Given the description of an element on the screen output the (x, y) to click on. 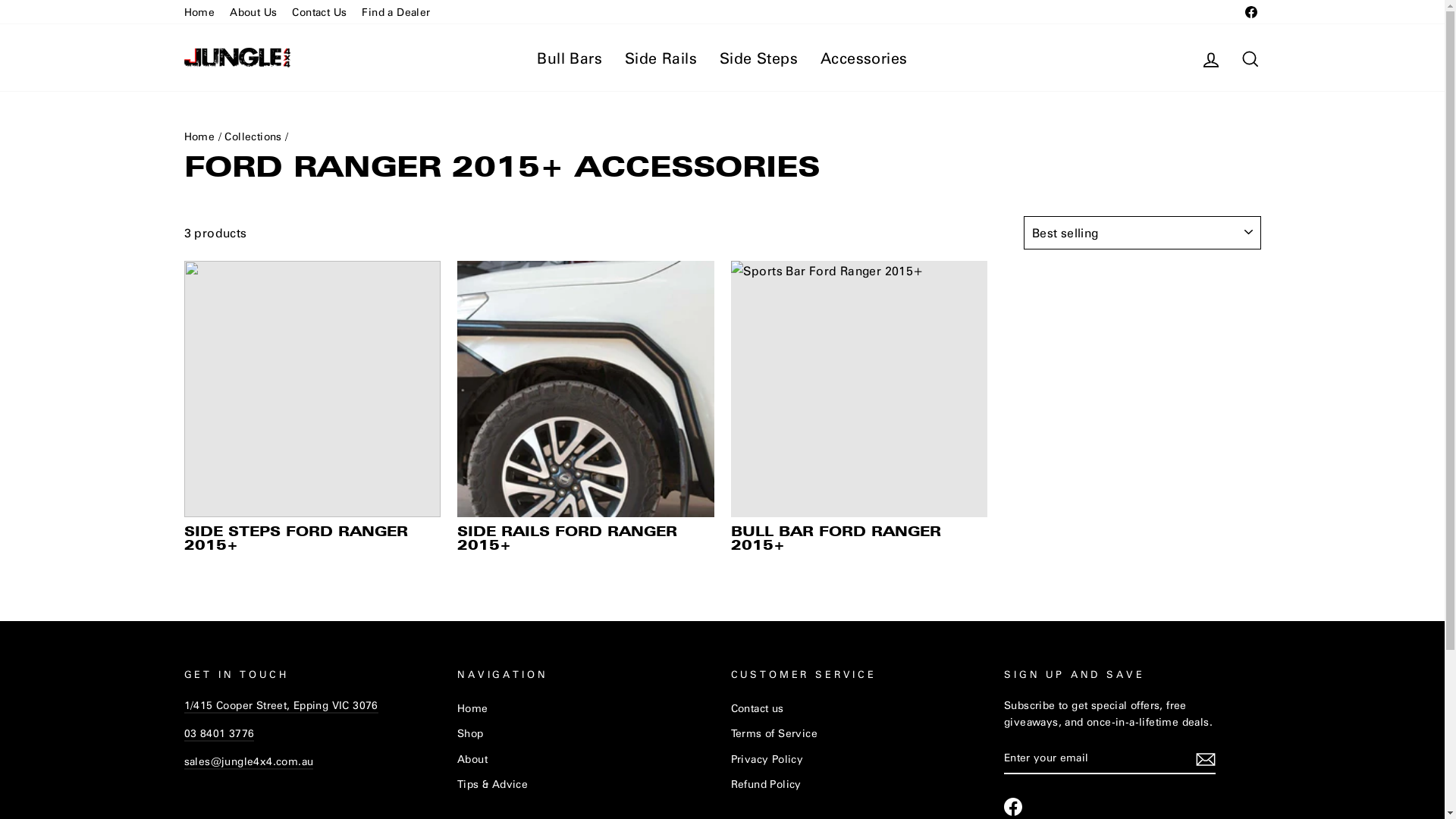
Facebook Element type: text (1013, 806)
Contact us Element type: text (757, 707)
SIDE STEPS FORD RANGER 2015+ Element type: text (311, 408)
Side Rails Element type: text (660, 57)
Contact Us Element type: text (319, 12)
Terms of Service Element type: text (774, 732)
SIDE RAILS FORD RANGER 2015+ Element type: text (585, 408)
Side Steps Element type: text (758, 57)
Bull Bars Element type: text (569, 57)
Search Element type: text (1249, 57)
Home Element type: text (198, 12)
03 8401 3776 Element type: text (218, 733)
Collections Element type: text (252, 135)
Tips & Advice Element type: text (492, 783)
Home Element type: text (198, 135)
Facebook Element type: text (1250, 12)
Privacy Policy Element type: text (767, 758)
Home Element type: text (472, 707)
1/415 Cooper Street, Epping VIC 3076 Element type: text (280, 705)
Find a Dealer Element type: text (395, 12)
sales@jungle4x4.com.au Element type: text (248, 761)
BULL BAR FORD RANGER 2015+ Element type: text (859, 408)
About Us Element type: text (253, 12)
Refund Policy Element type: text (766, 783)
Shop Element type: text (470, 732)
Accessories Element type: text (863, 57)
Log in Element type: text (1210, 57)
Skip to content Element type: text (0, 0)
About Element type: text (472, 758)
